Given the description of an element on the screen output the (x, y) to click on. 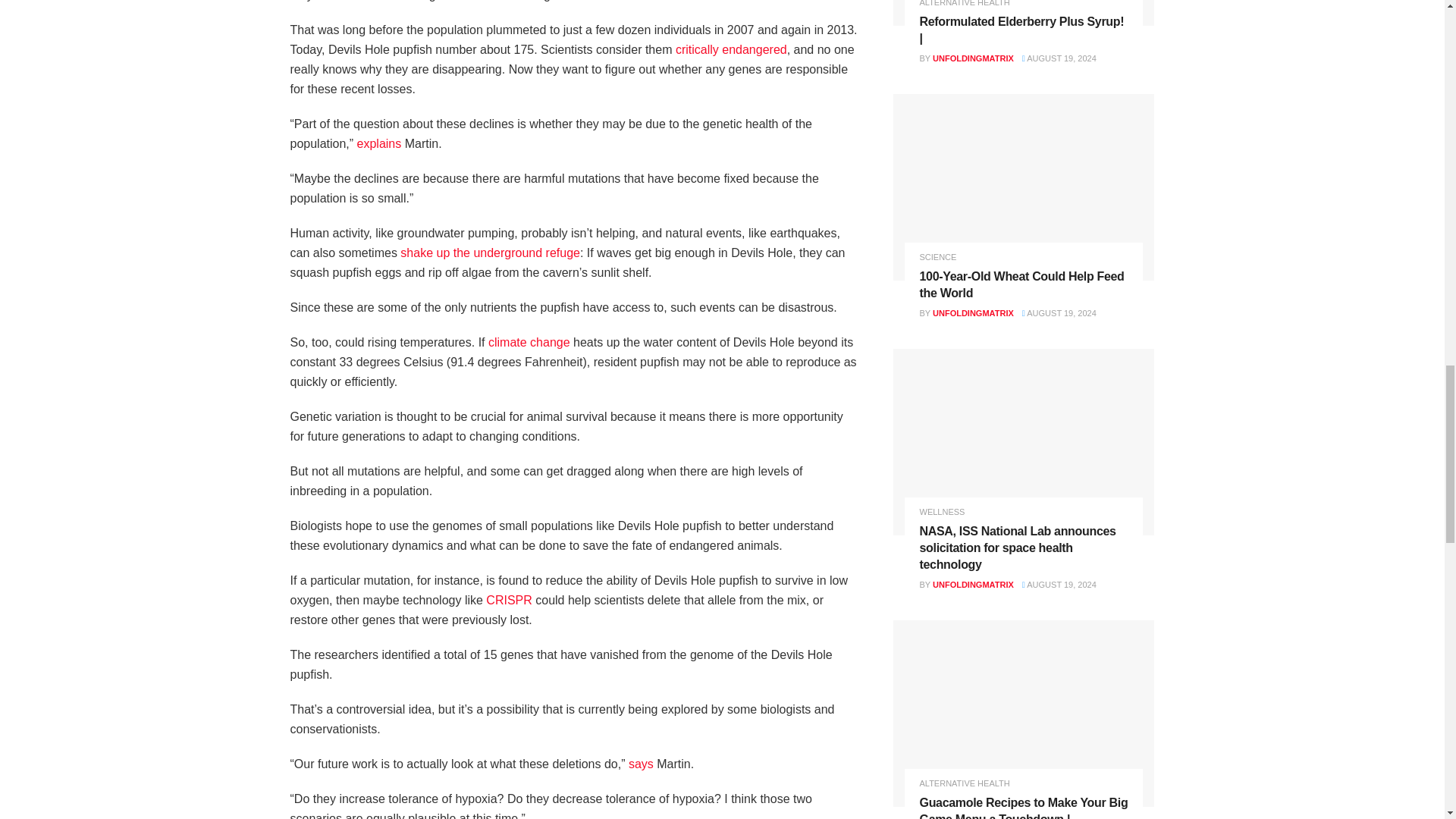
explains (378, 143)
critically endangered (731, 49)
CRISPR (508, 599)
says (640, 763)
shake up the underground refuge (489, 252)
climate change (528, 341)
